Given the description of an element on the screen output the (x, y) to click on. 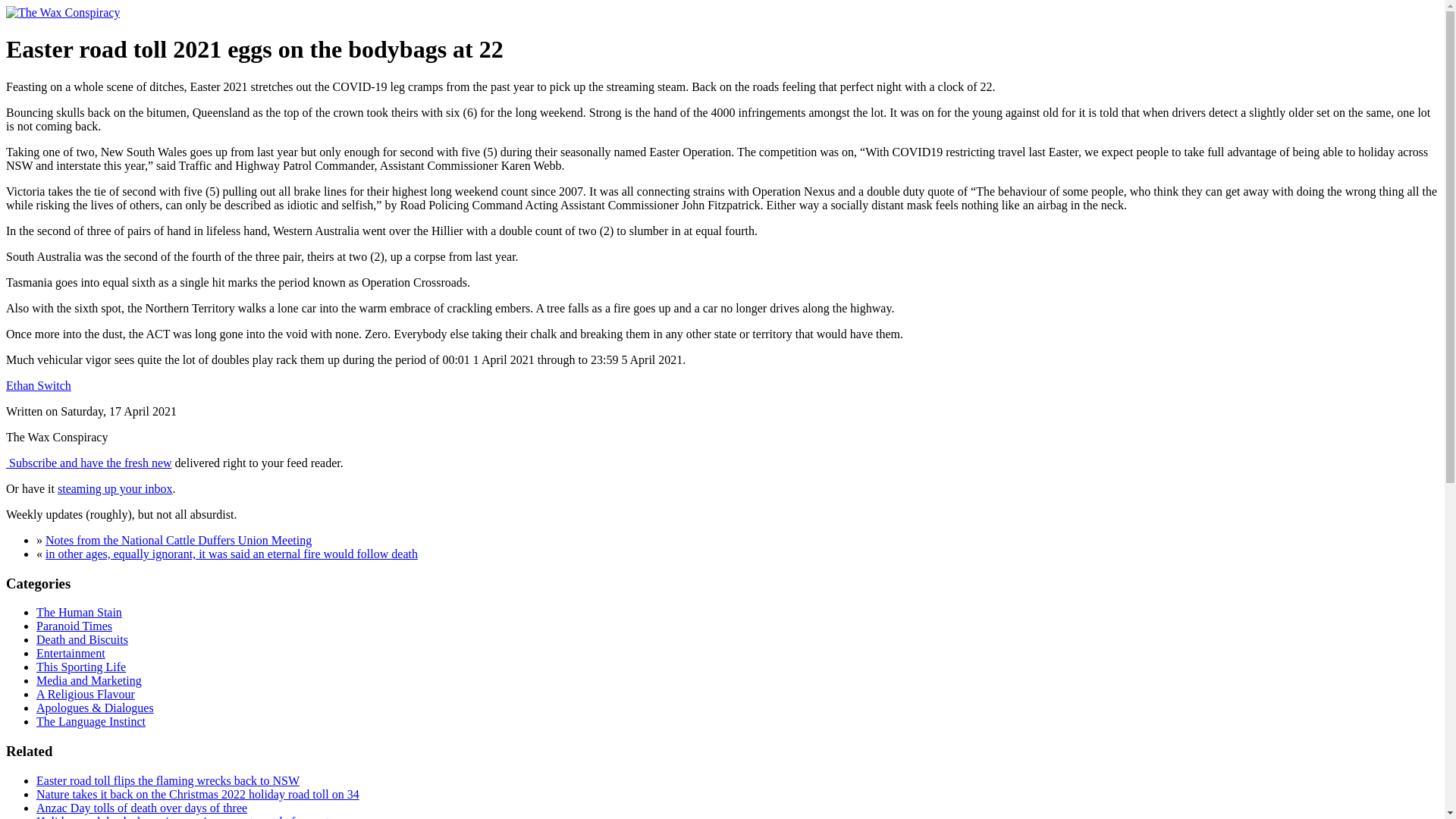
Subscribe and have the fresh new (89, 462)
monoburn4eva (38, 385)
homerun (62, 11)
The Human Stain (79, 612)
steaming up your inbox (115, 488)
email that is (115, 488)
Ethan Switch (38, 385)
A Religious Flavour (85, 694)
The Language Instinct (90, 721)
Media and Marketing (88, 680)
written in the days after (178, 540)
Entertainment (70, 653)
